Given the description of an element on the screen output the (x, y) to click on. 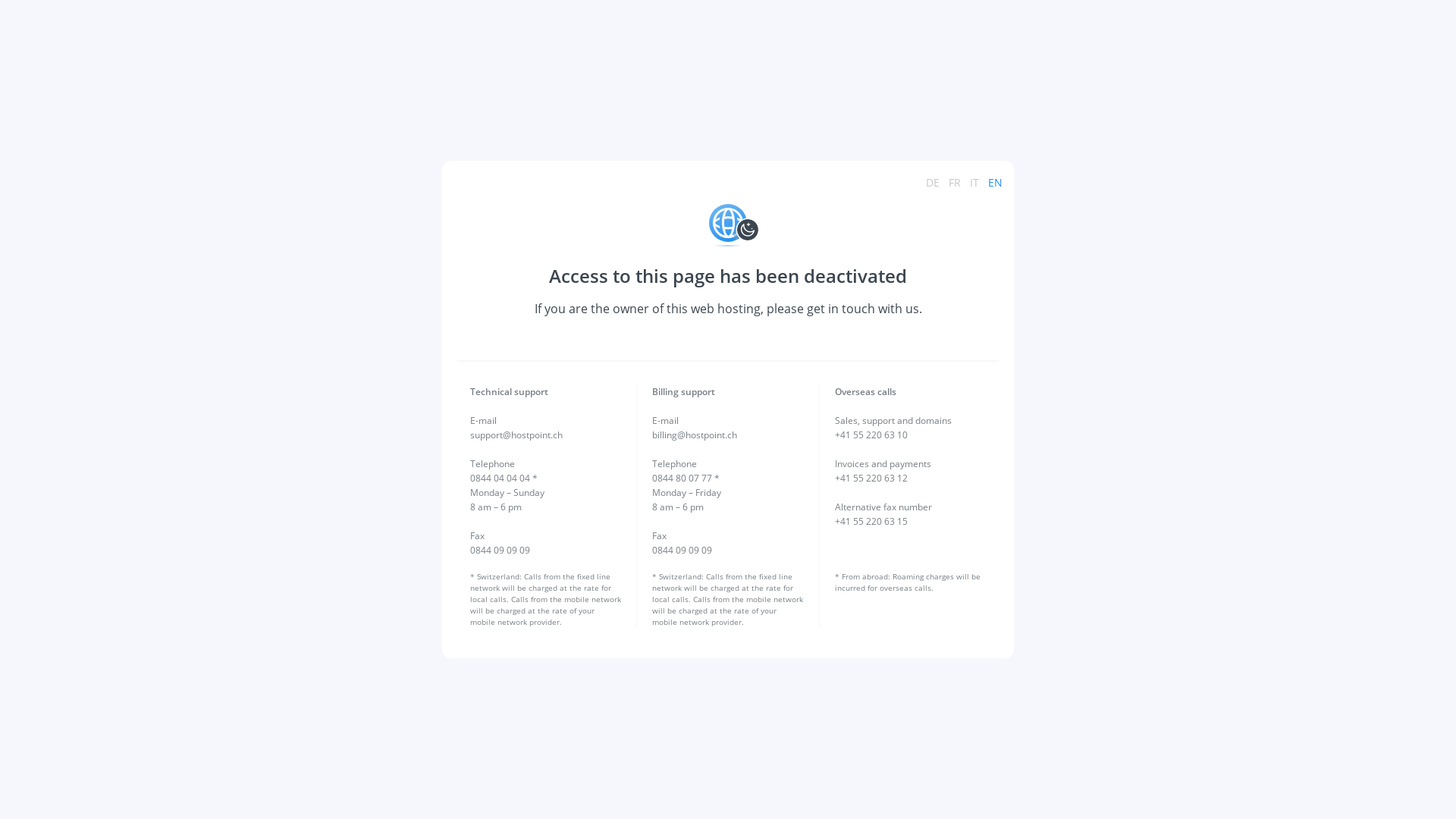
billing@hostpoint.ch Element type: text (694, 434)
support@hostpoint.ch Element type: text (516, 434)
